Given the description of an element on the screen output the (x, y) to click on. 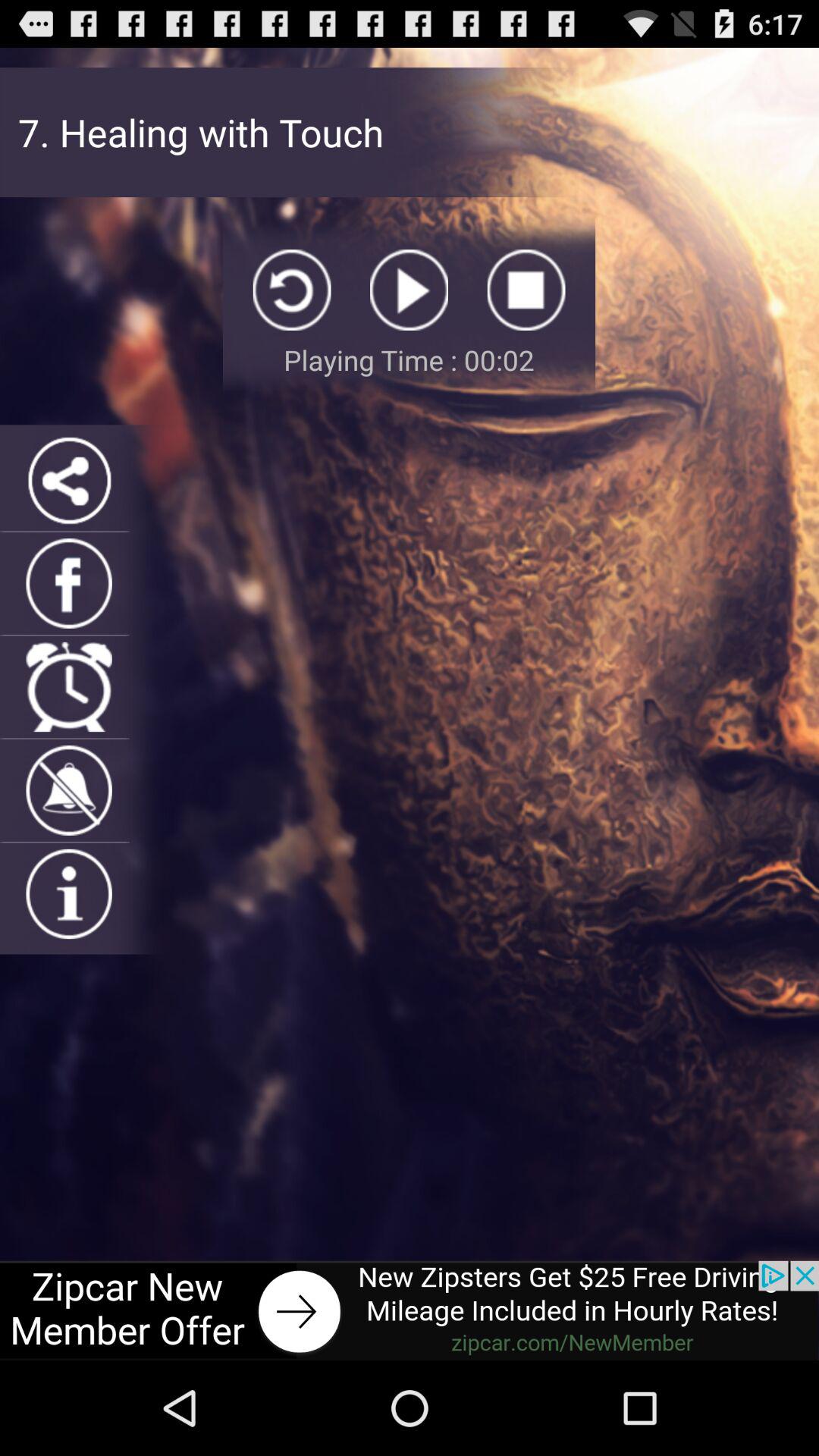
go to play (409, 289)
